Given the description of an element on the screen output the (x, y) to click on. 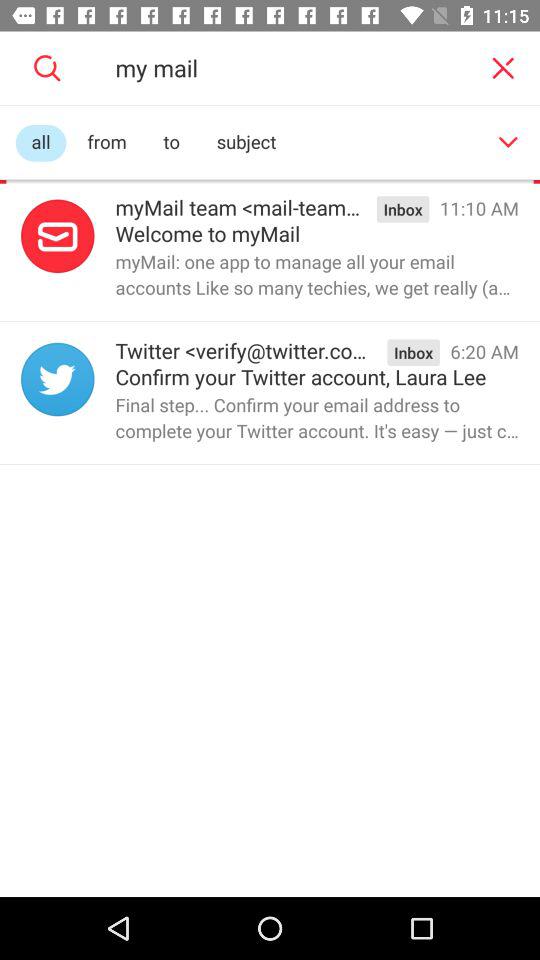
open email (57, 236)
